Given the description of an element on the screen output the (x, y) to click on. 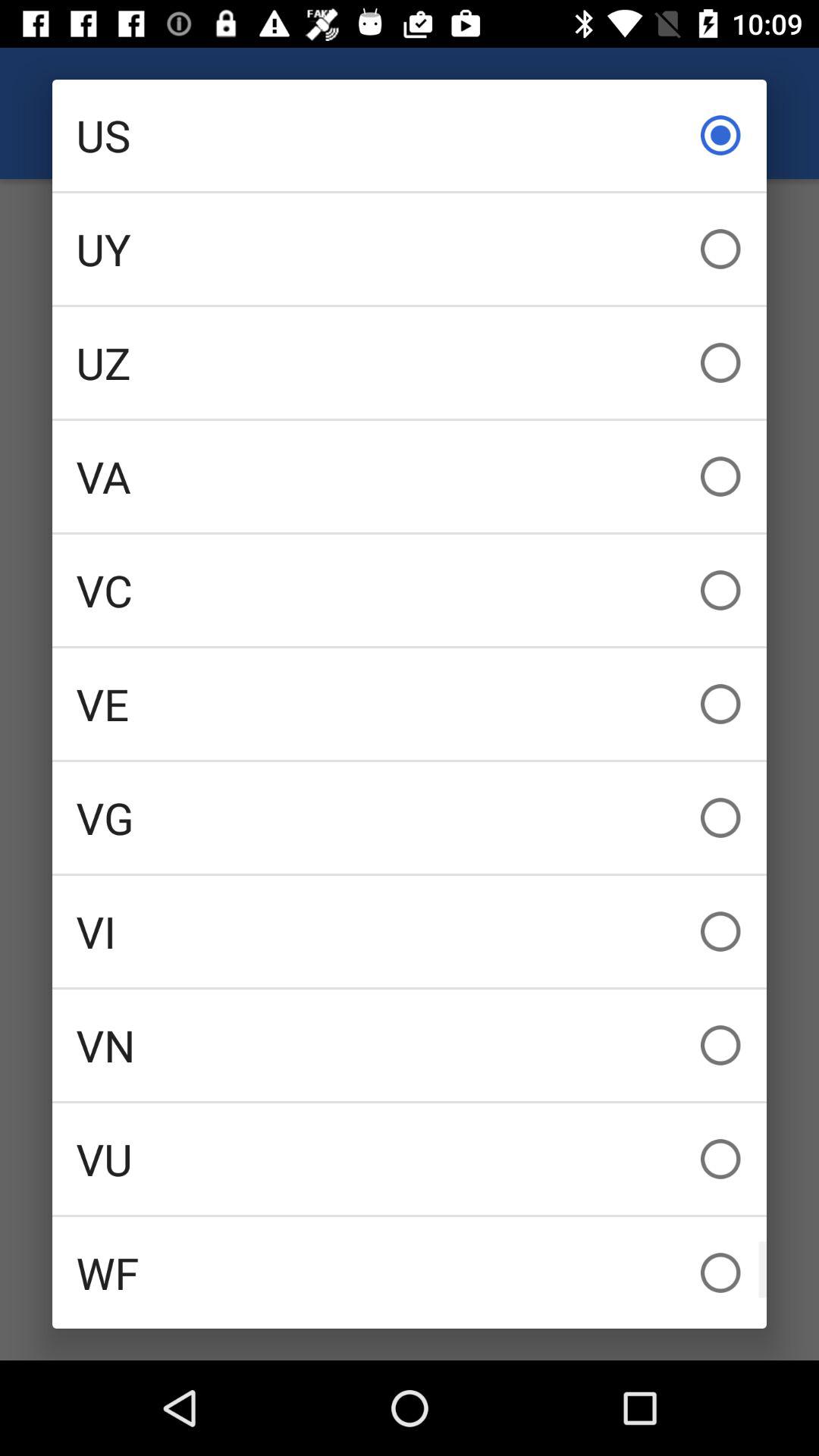
jump until us icon (409, 135)
